Given the description of an element on the screen output the (x, y) to click on. 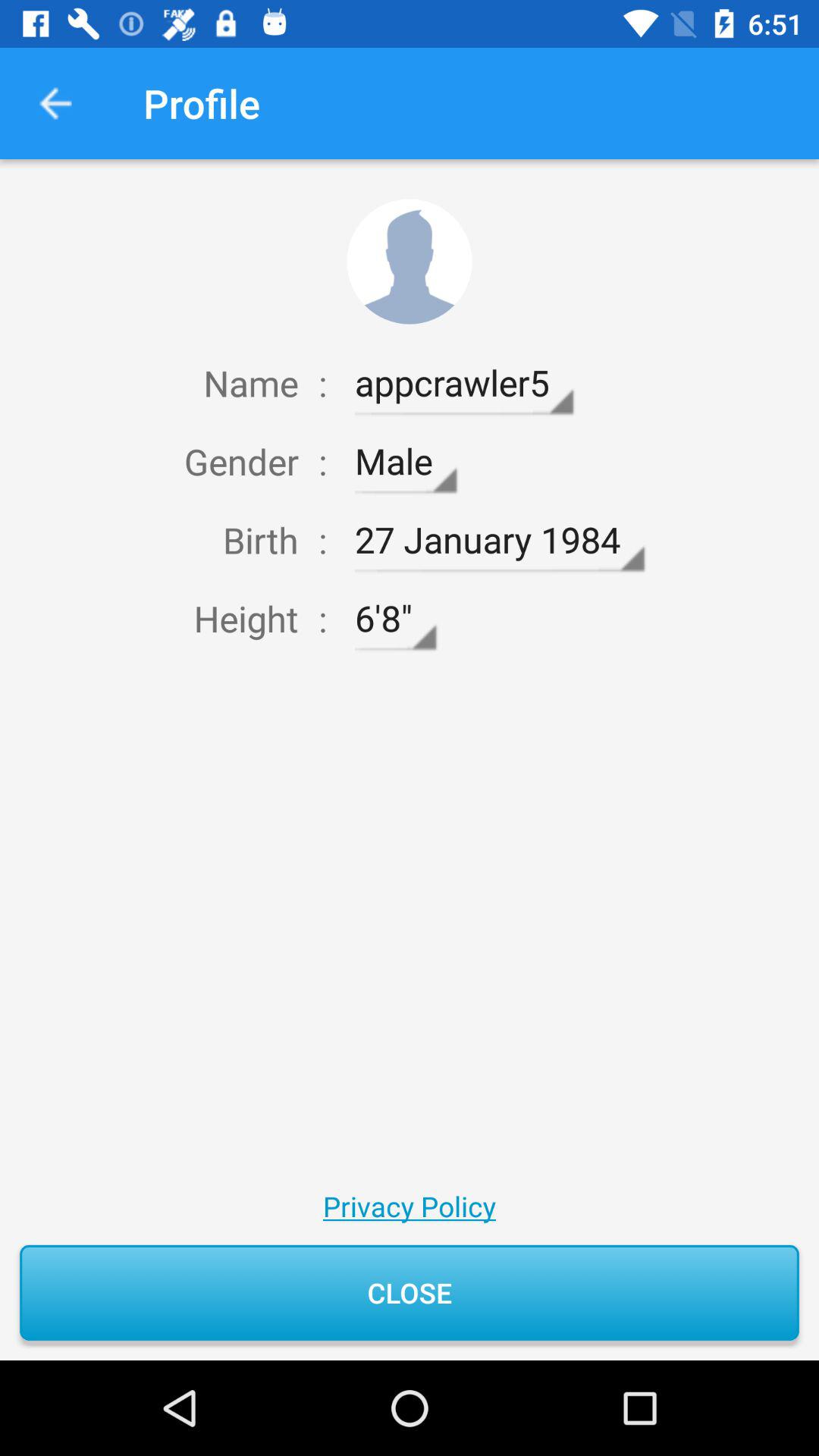
scroll to close item (409, 1292)
